Given the description of an element on the screen output the (x, y) to click on. 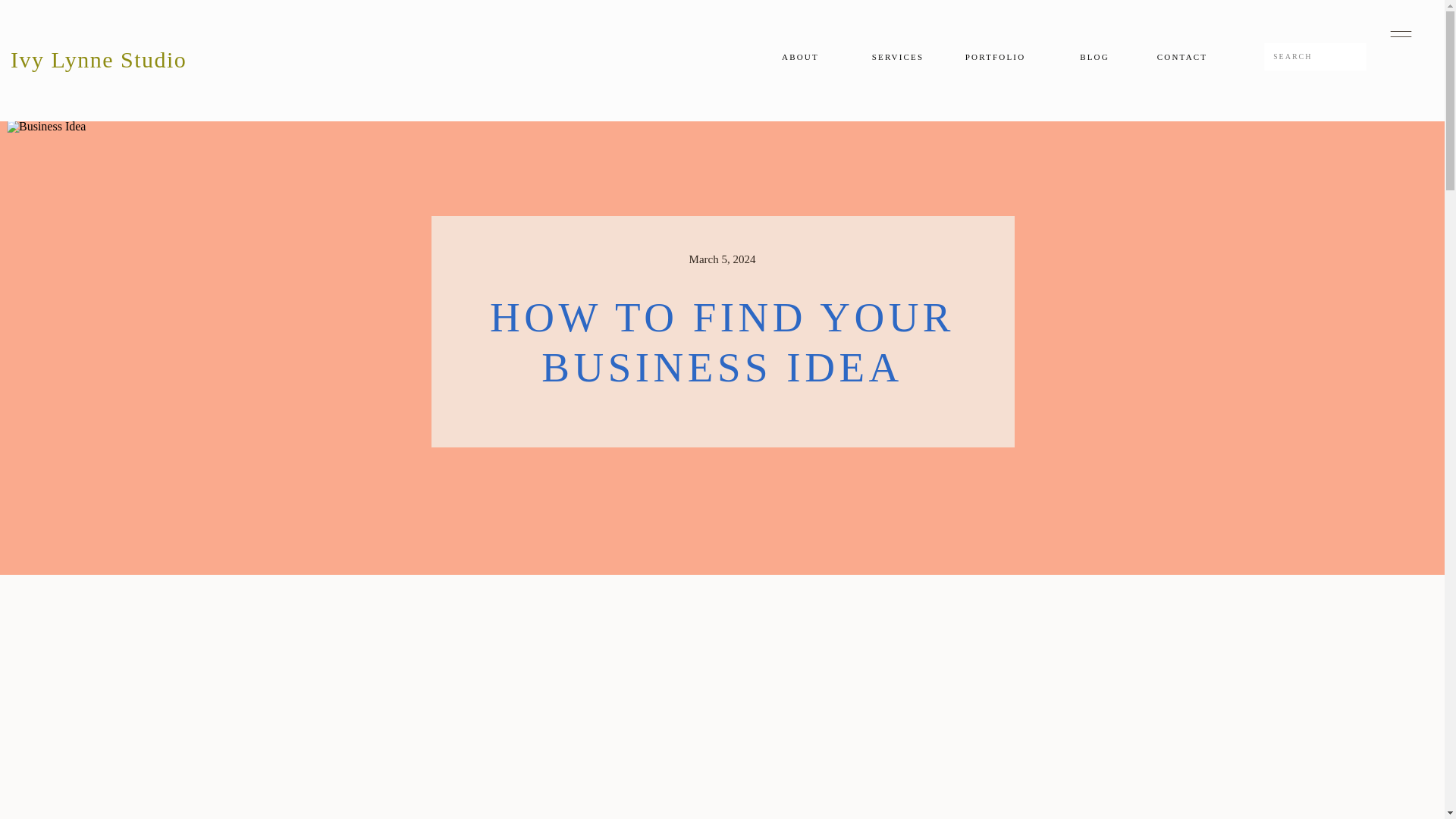
How to Find Your Business Idea (611, 703)
SERVICES (897, 55)
ABOUT (799, 56)
PORTFOLIO (994, 56)
CONTACT (1182, 56)
BLOG (1094, 56)
